Given the description of an element on the screen output the (x, y) to click on. 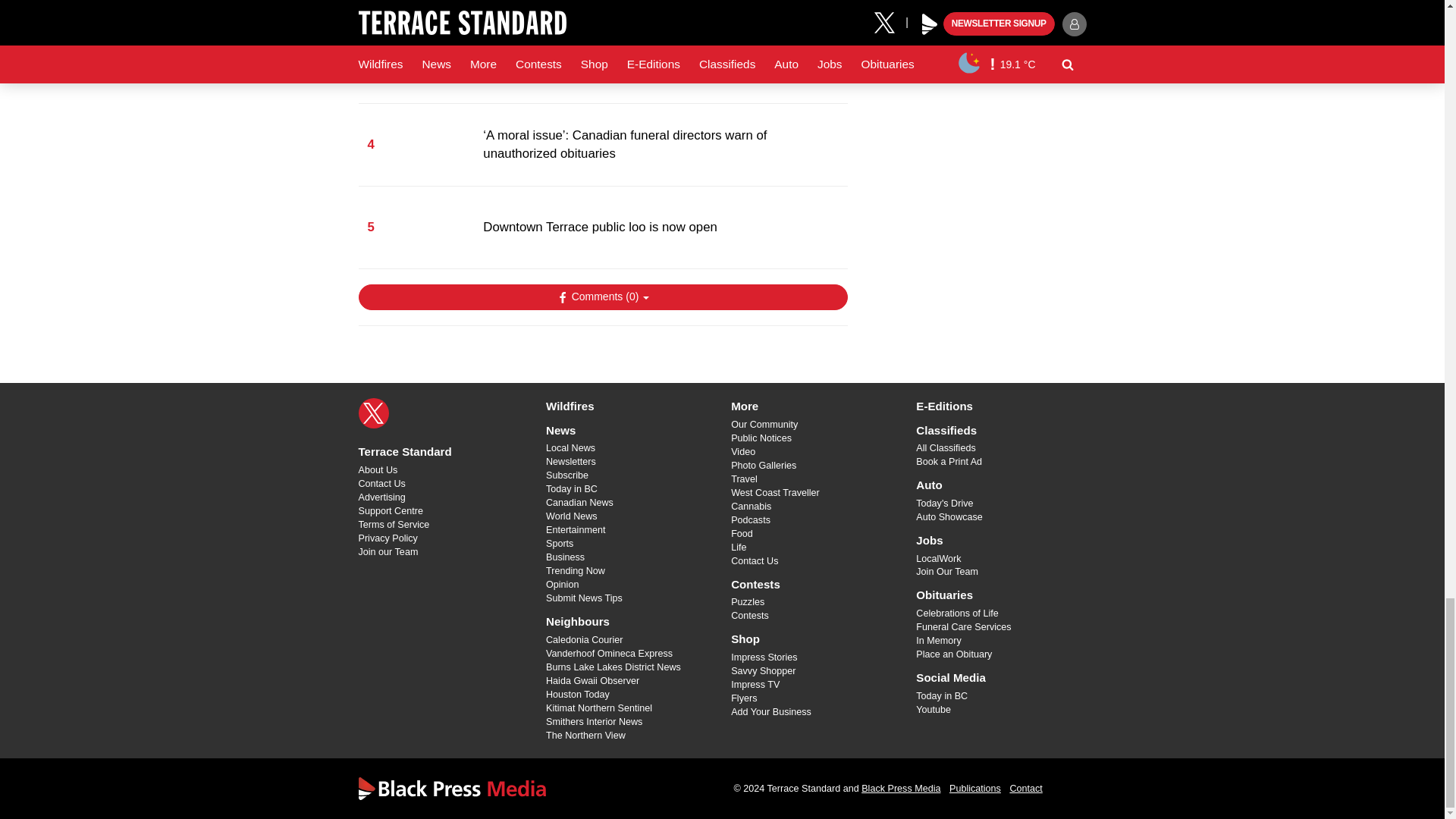
X (373, 413)
Show Comments (602, 297)
